Given the description of an element on the screen output the (x, y) to click on. 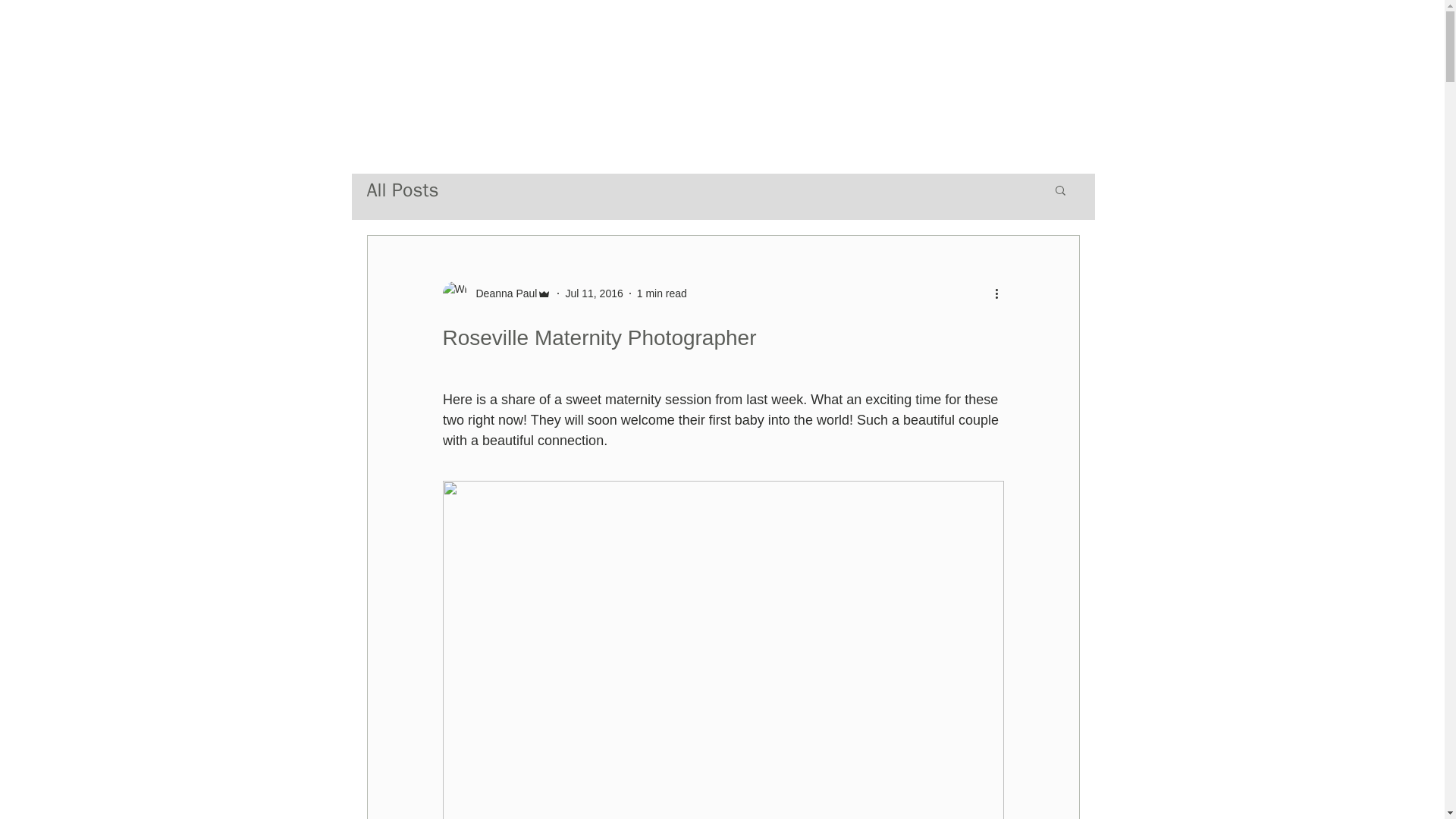
Jul 11, 2016 (593, 292)
Deanna Paul (496, 293)
1 min read (662, 292)
Deanna Paul (502, 293)
All Posts (402, 189)
